Given the description of an element on the screen output the (x, y) to click on. 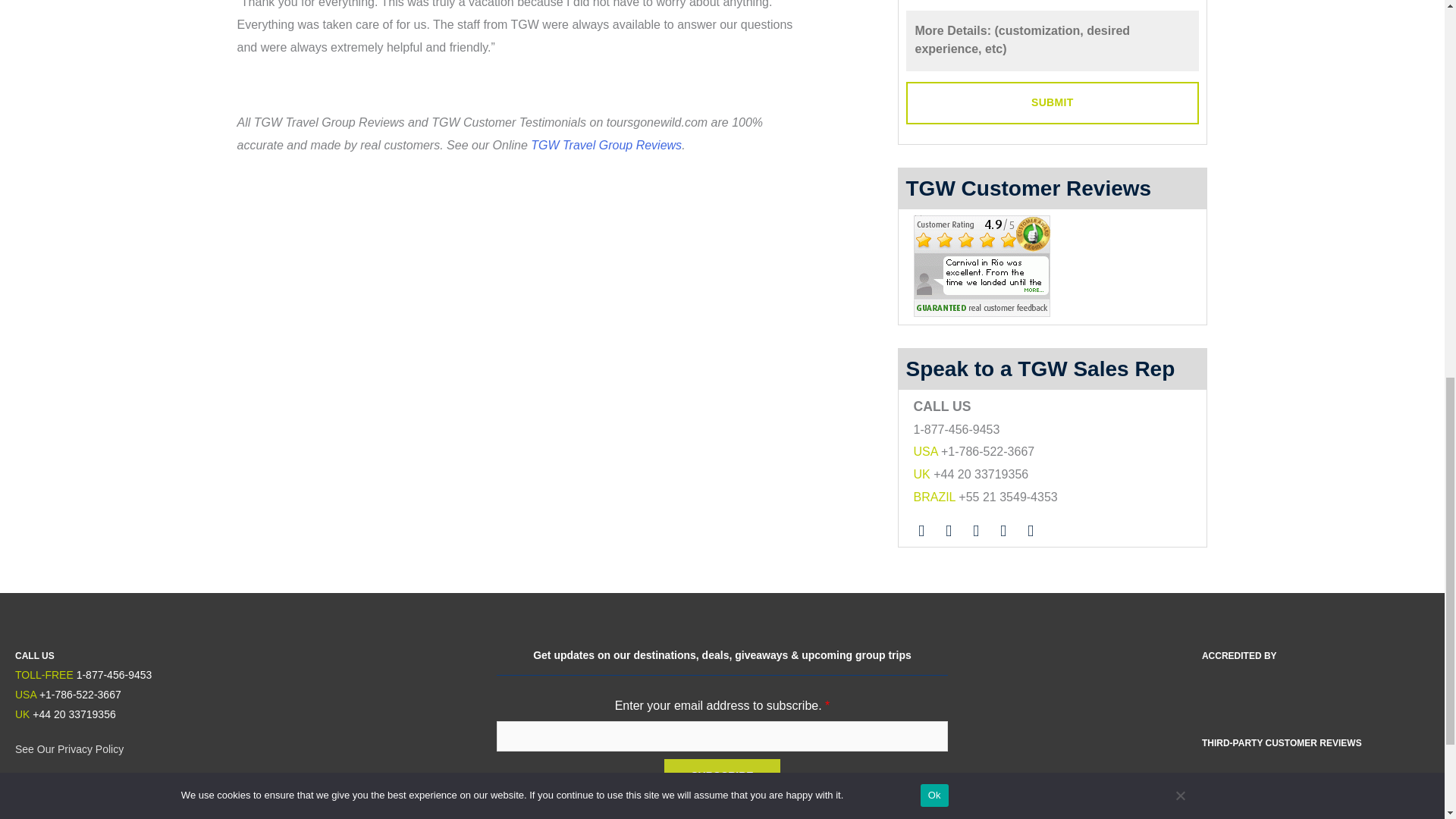
Submit (1051, 102)
